Given the description of an element on the screen output the (x, y) to click on. 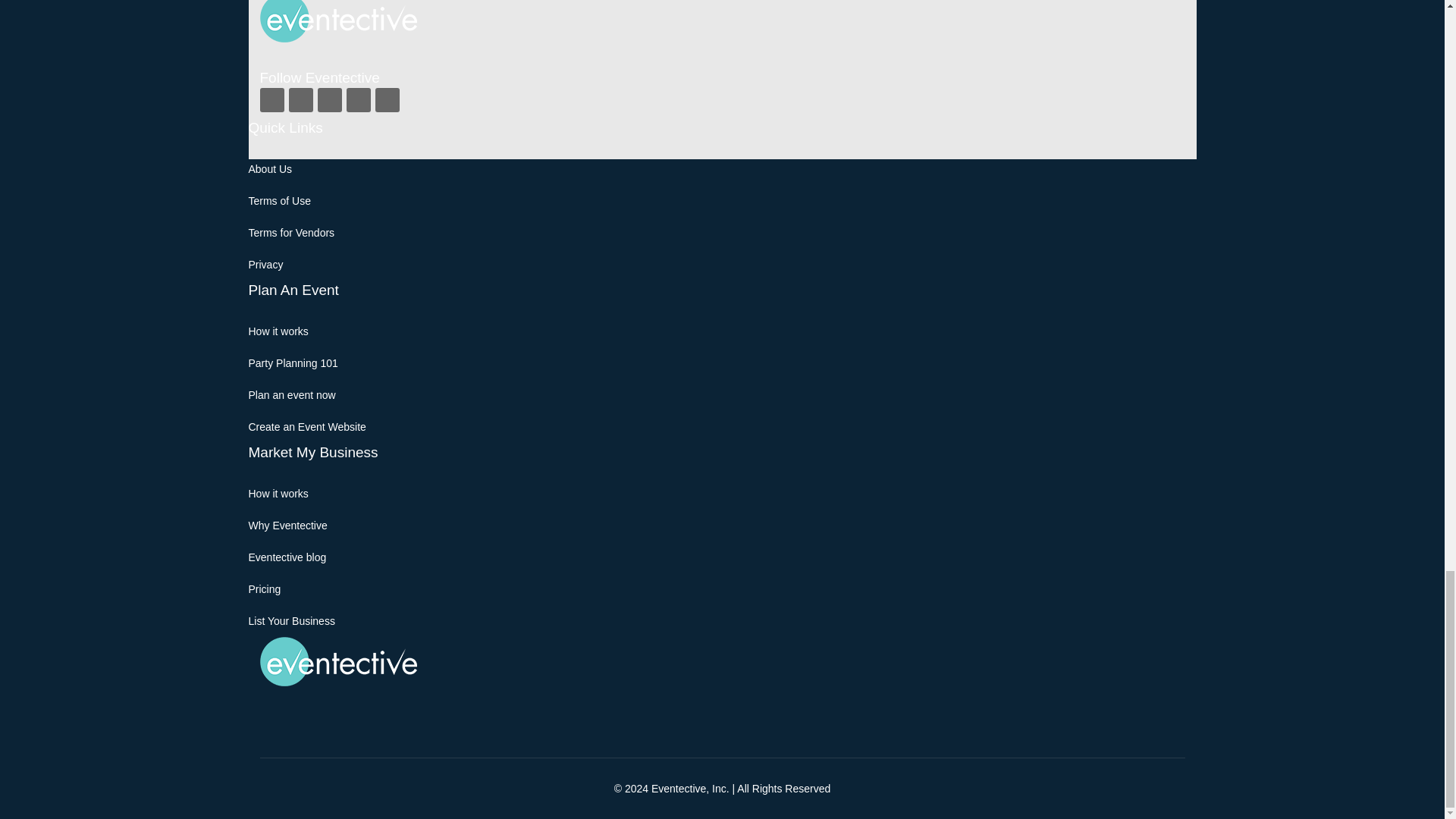
Terms for Vendors (291, 232)
Party Planning 101 (292, 363)
How it works (278, 493)
Follow on Twitter (300, 99)
Privacy (265, 264)
About Us (270, 168)
Follow on Instagram (328, 99)
Follow on Pinterest (357, 99)
Follow on Facebook (271, 99)
Create an Event Website (307, 426)
Why Eventective (287, 525)
Plan an event now (292, 395)
How it works (278, 331)
Follow on LinkedIn (386, 99)
Terms of Use (279, 200)
